Given the description of an element on the screen output the (x, y) to click on. 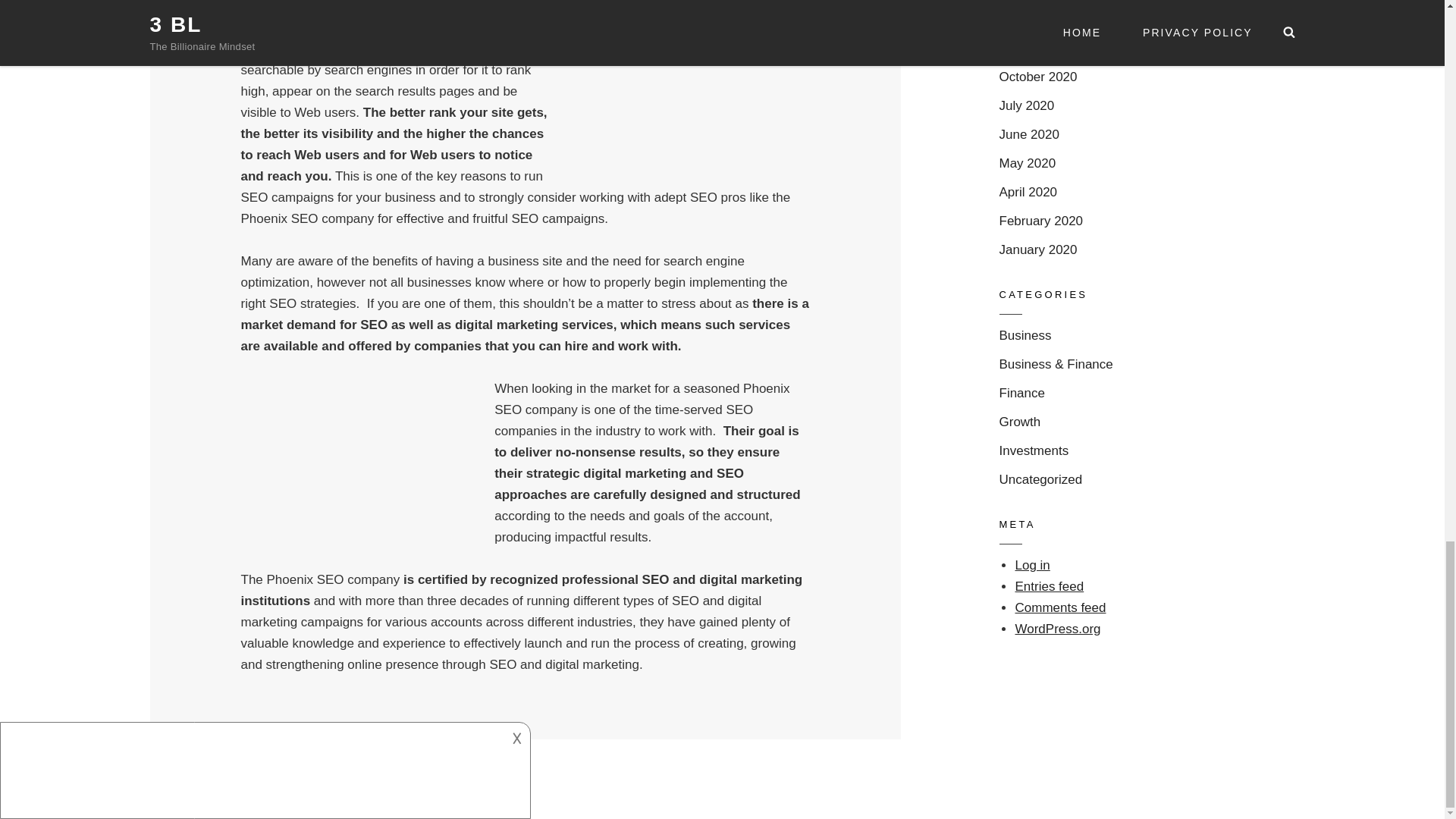
February 2021 (1040, 19)
April 2021 (1028, 0)
